Given the description of an element on the screen output the (x, y) to click on. 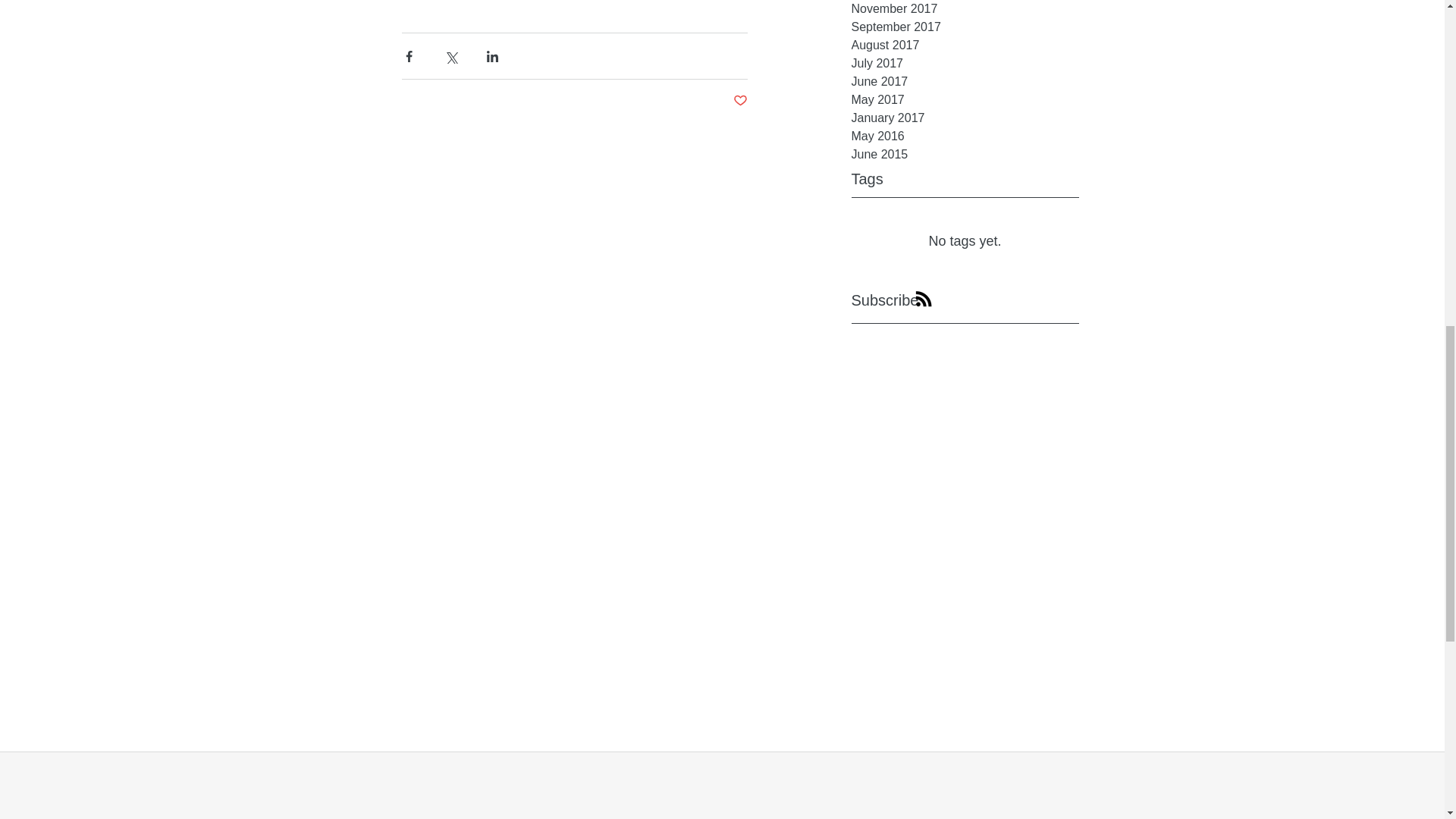
RSS Feed (923, 298)
